Given the description of an element on the screen output the (x, y) to click on. 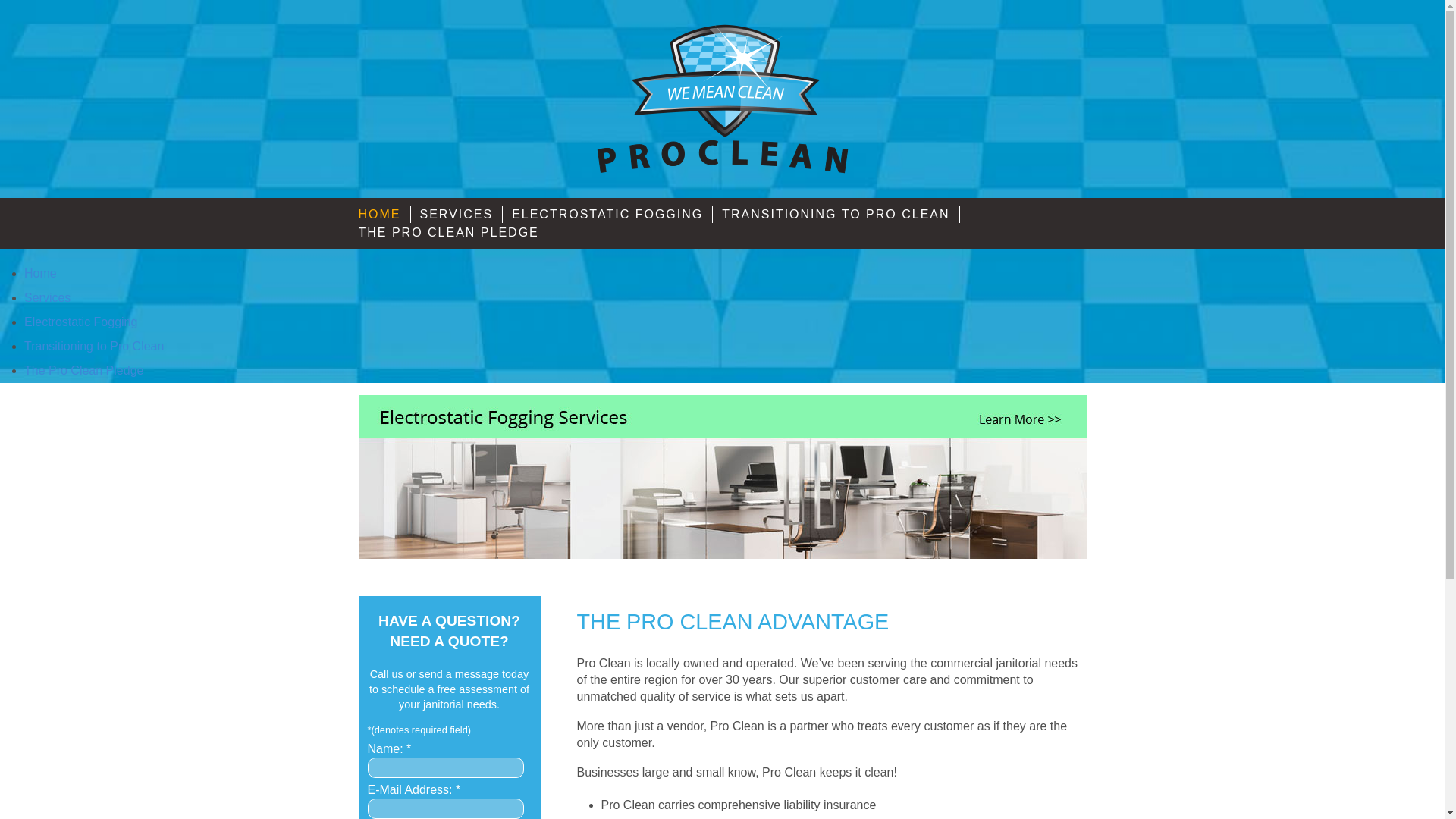
covid-19-disinfect-fogging (722, 494)
Transitioning to Pro Clean (93, 345)
Transitioning (840, 213)
Electrostatic (80, 321)
TRANSITIONING TO PRO CLEAN (840, 213)
Home (384, 213)
Electrostatic (612, 213)
Services (46, 297)
Home (40, 273)
The Pro Clean Pledge (83, 369)
Home (40, 273)
The (83, 369)
HOME (384, 213)
THE PRO CLEAN PLEDGE (452, 231)
SERVICES (461, 213)
